Given the description of an element on the screen output the (x, y) to click on. 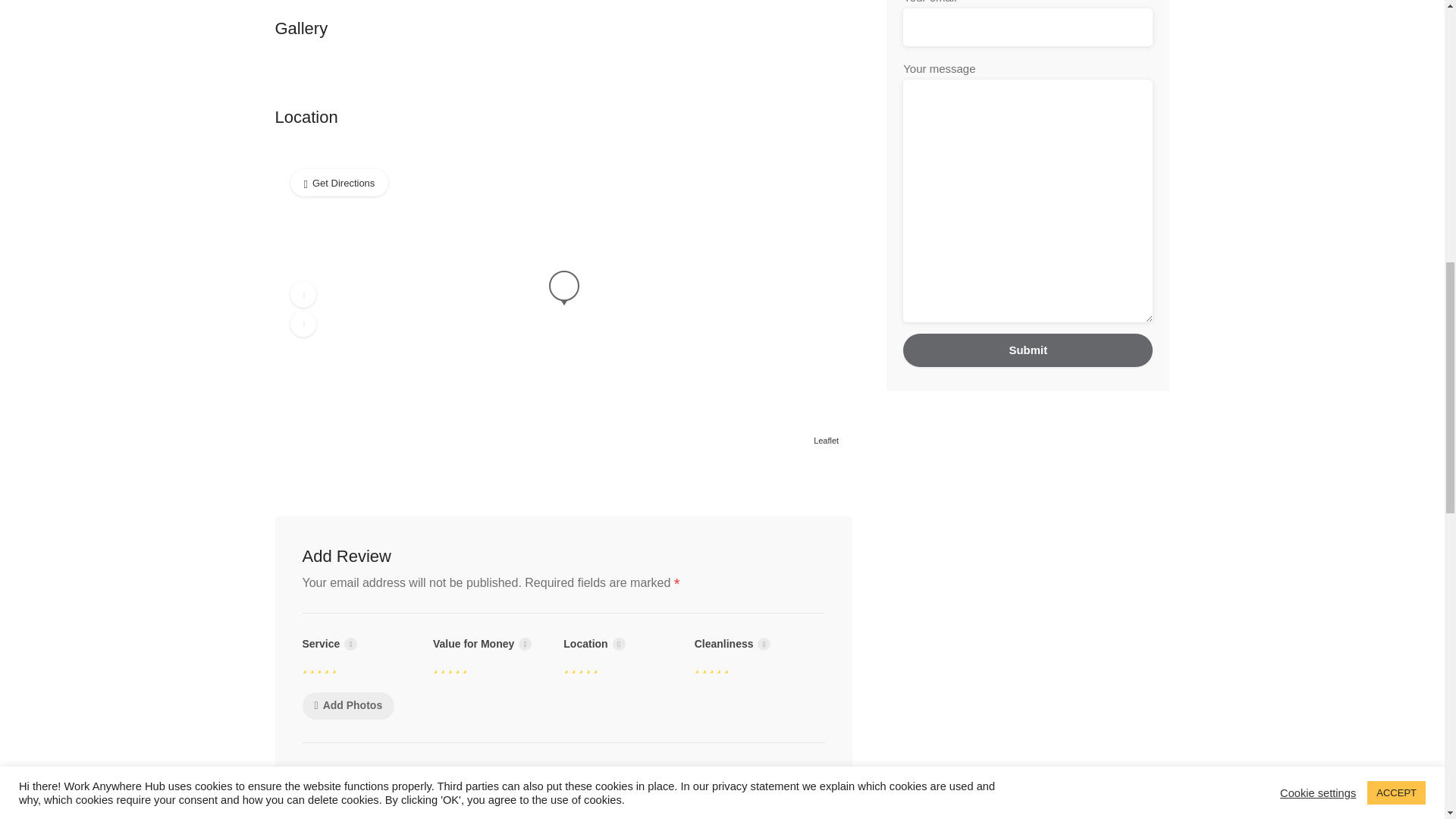
Get Directions (338, 182)
Zoom in (302, 294)
Zoom out (302, 323)
Submit (1027, 349)
Leaflet (825, 440)
A JS library for interactive maps (825, 440)
